Given the description of an element on the screen output the (x, y) to click on. 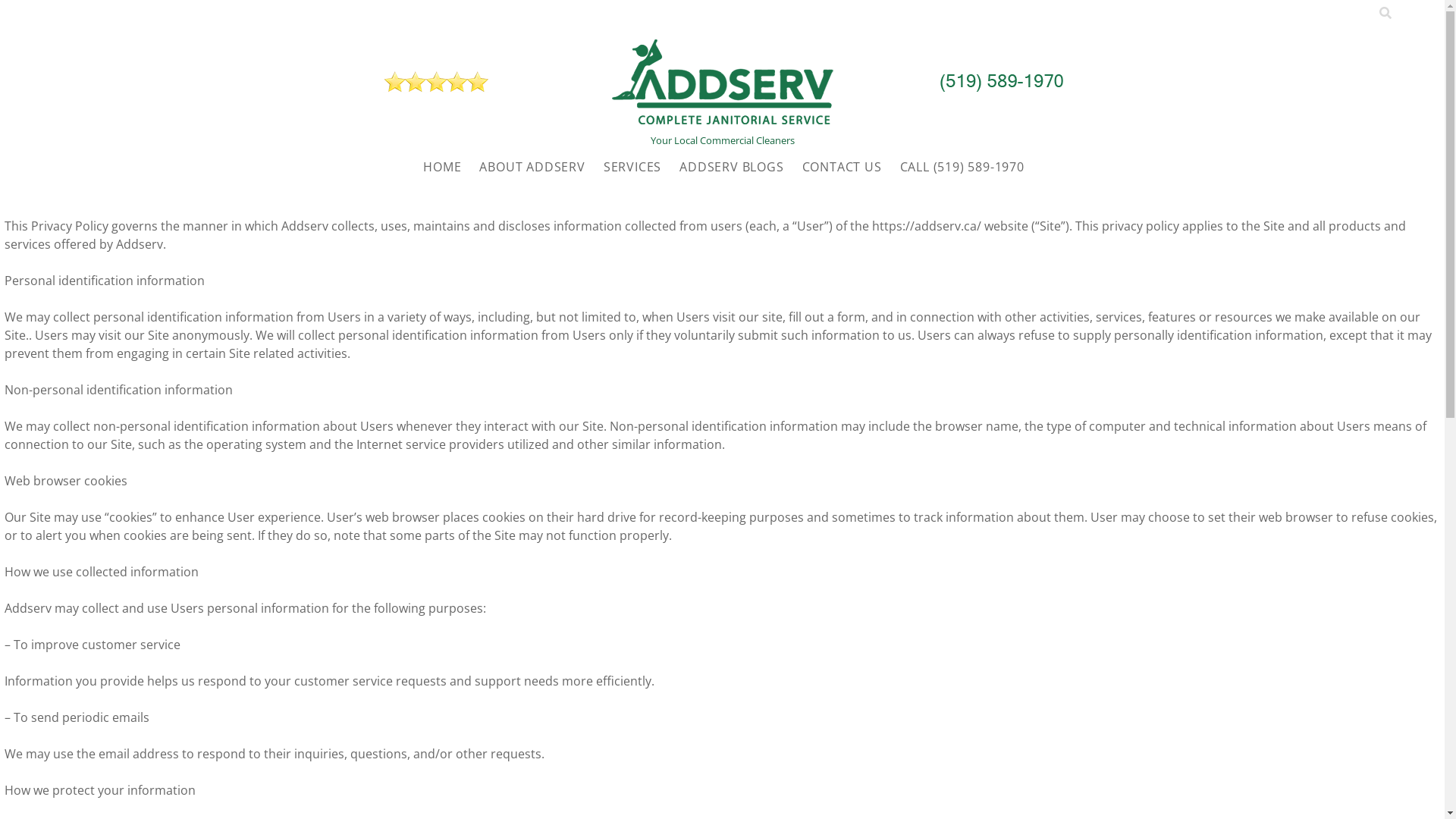
CONTACT US Element type: text (842, 166)
ADDSERV BLOGS Element type: text (731, 166)
Addserv Ltd. Element type: text (721, 118)
ABOUT ADDSERV Element type: text (531, 166)
HOME Element type: text (442, 166)
CALL (519) 589-1970 Element type: text (962, 166)
SERVICES Element type: text (632, 166)
